Given the description of an element on the screen output the (x, y) to click on. 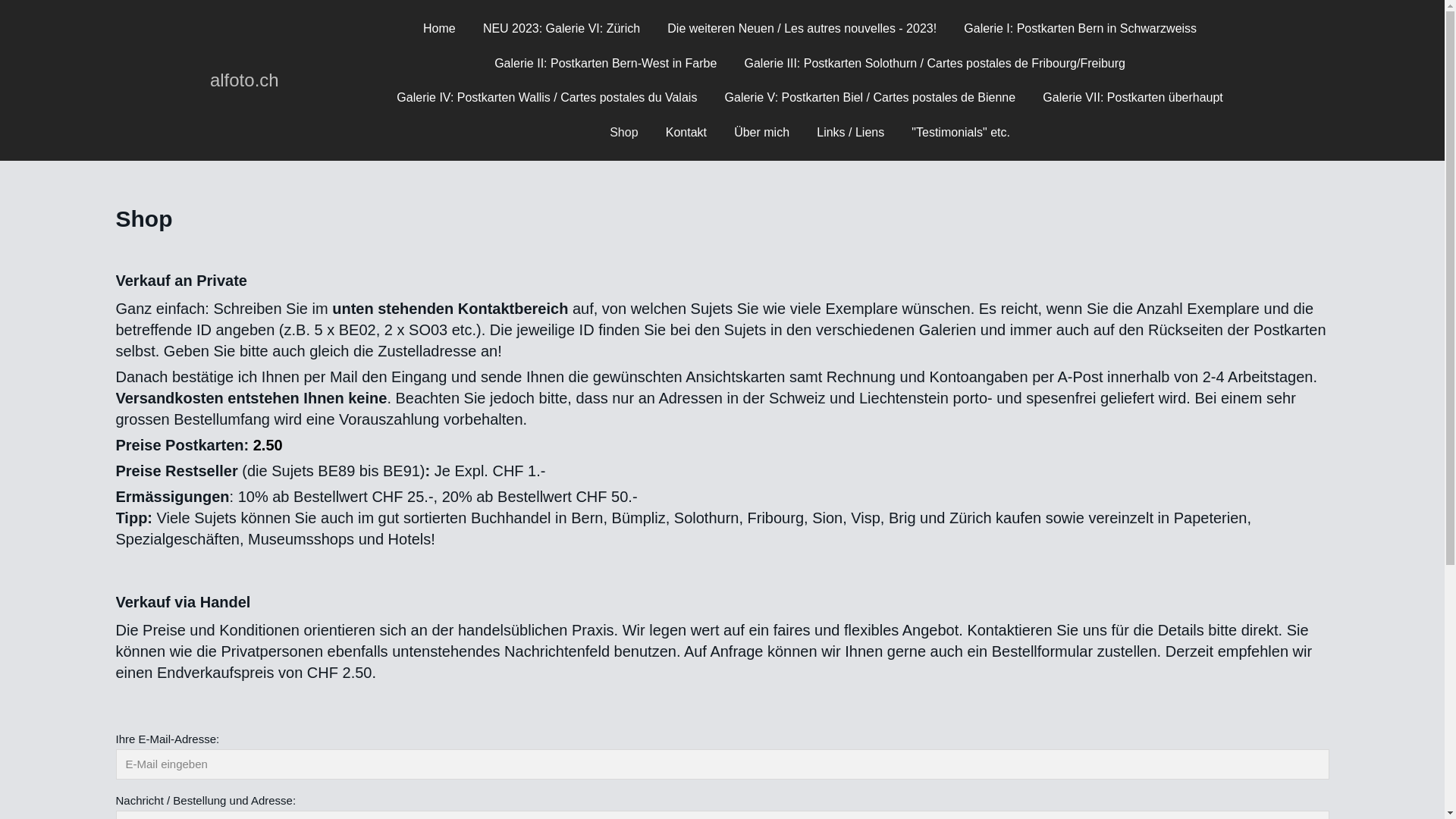
Links / Liens Element type: text (850, 132)
Kontakt Element type: text (685, 132)
Die weiteren Neuen / Les autres nouvelles - 2023! Element type: text (801, 28)
Galerie I: Postkarten Bern in Schwarzweiss Element type: text (1079, 28)
Galerie V: Postkarten Biel / Cartes postales de Bienne Element type: text (870, 97)
"Testimonials" etc. Element type: text (960, 132)
Galerie IV: Postkarten Wallis / Cartes postales du Valais Element type: text (546, 97)
Shop Element type: text (623, 132)
alfoto.ch Element type: text (244, 79)
Home Element type: text (439, 28)
Galerie II: Postkarten Bern-West in Farbe Element type: text (605, 63)
